Given the description of an element on the screen output the (x, y) to click on. 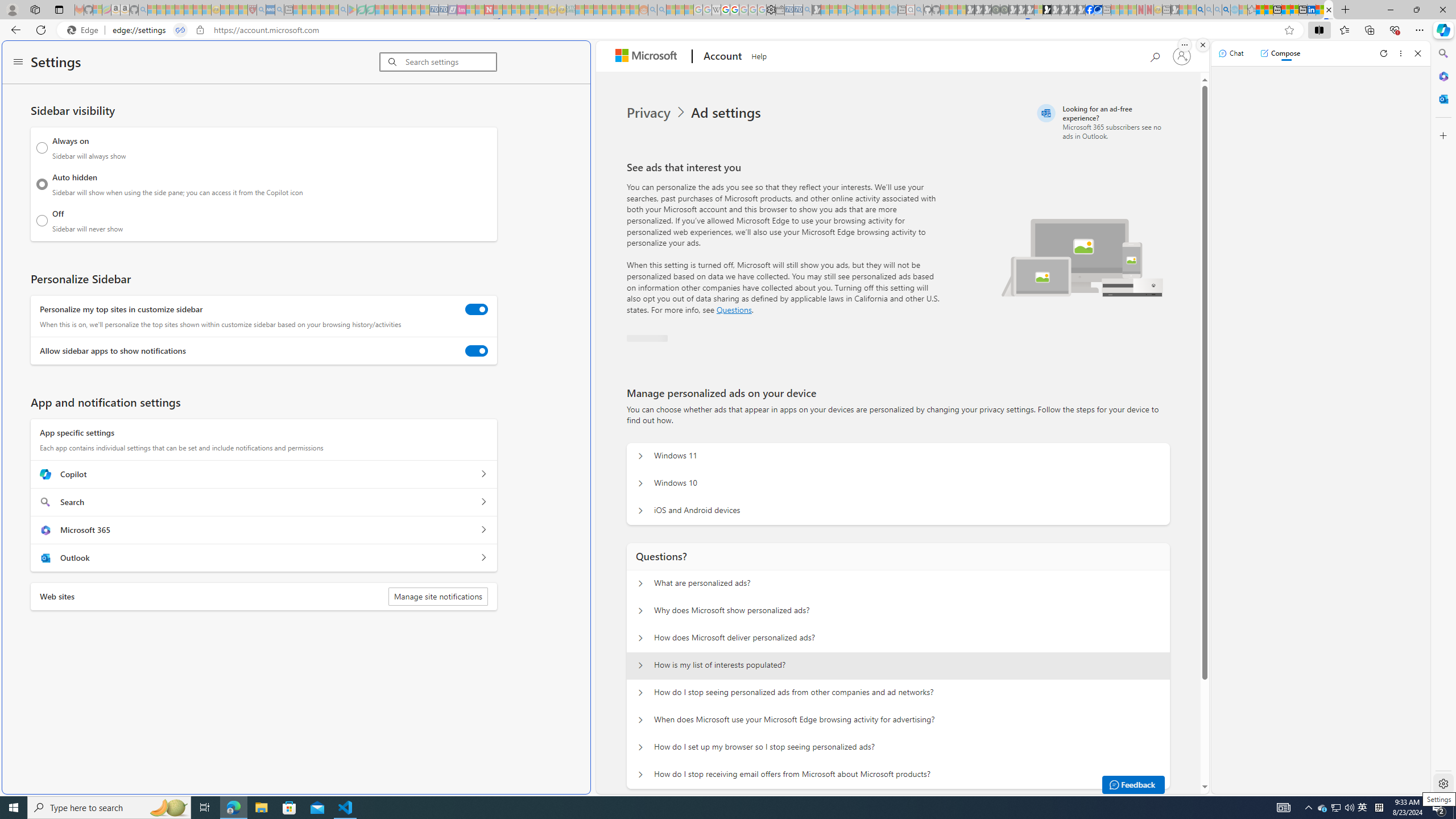
Personalize my top sites in customize sidebar (476, 309)
Edge (84, 29)
Latest Politics News & Archive | Newsweek.com - Sleeping (488, 9)
Favorites - Sleeping (1251, 9)
Wallet - Sleeping (779, 9)
Kinda Frugal - MSN - Sleeping (616, 9)
